Given the description of an element on the screen output the (x, y) to click on. 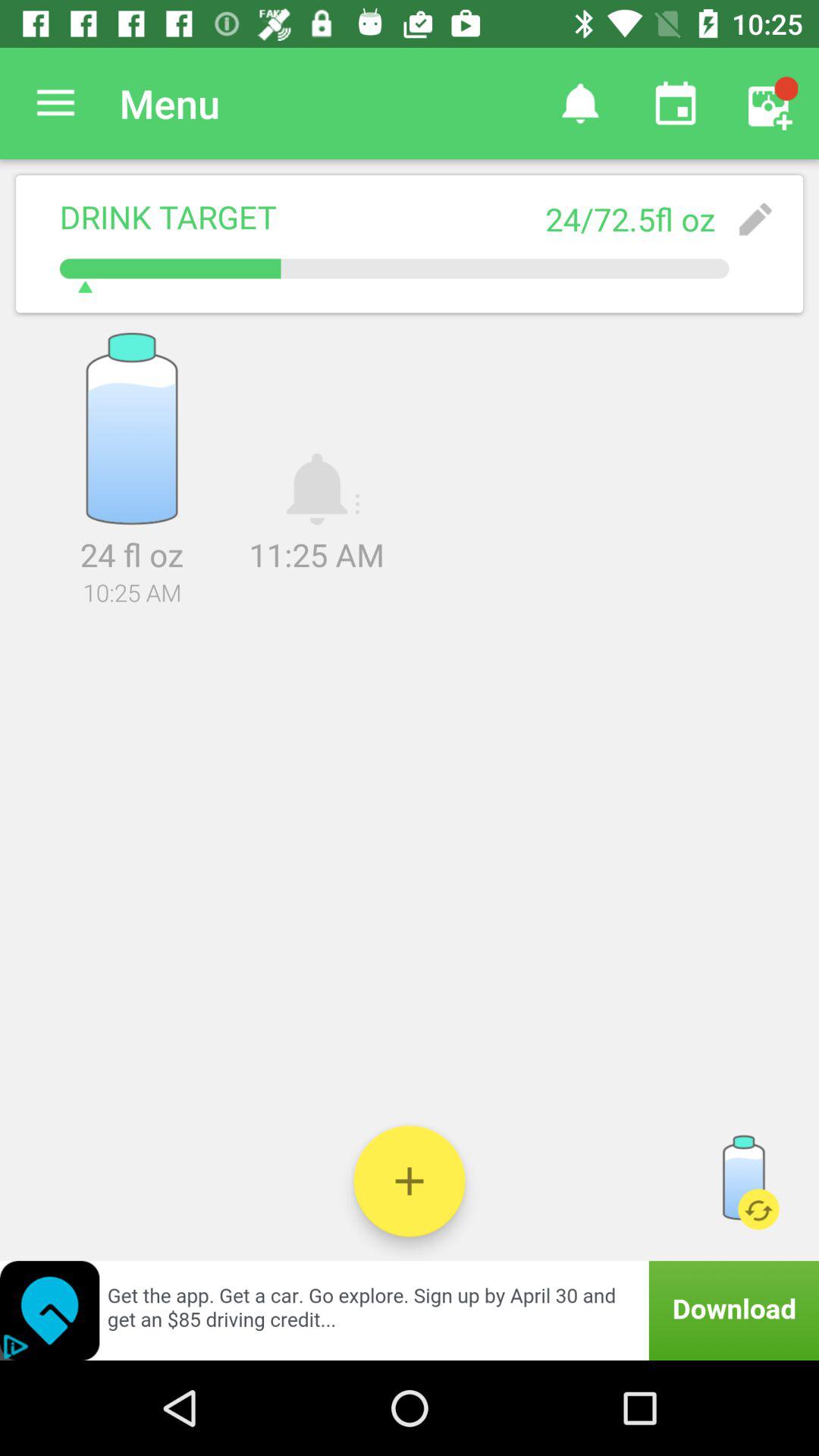
select item to the left of the menu (55, 103)
